Given the description of an element on the screen output the (x, y) to click on. 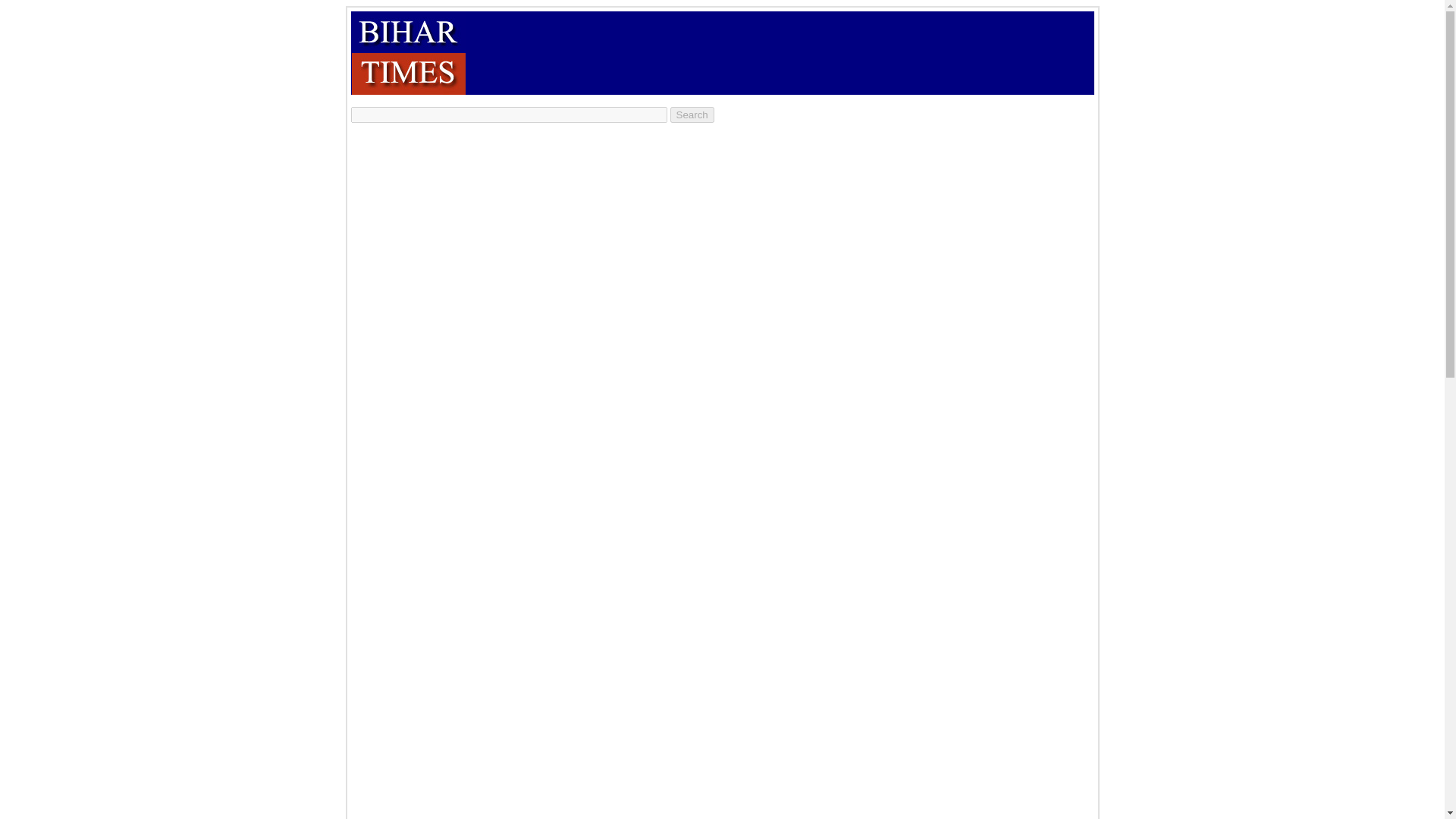
Advertisement (741, 52)
Search (691, 114)
Search (691, 114)
